Given the description of an element on the screen output the (x, y) to click on. 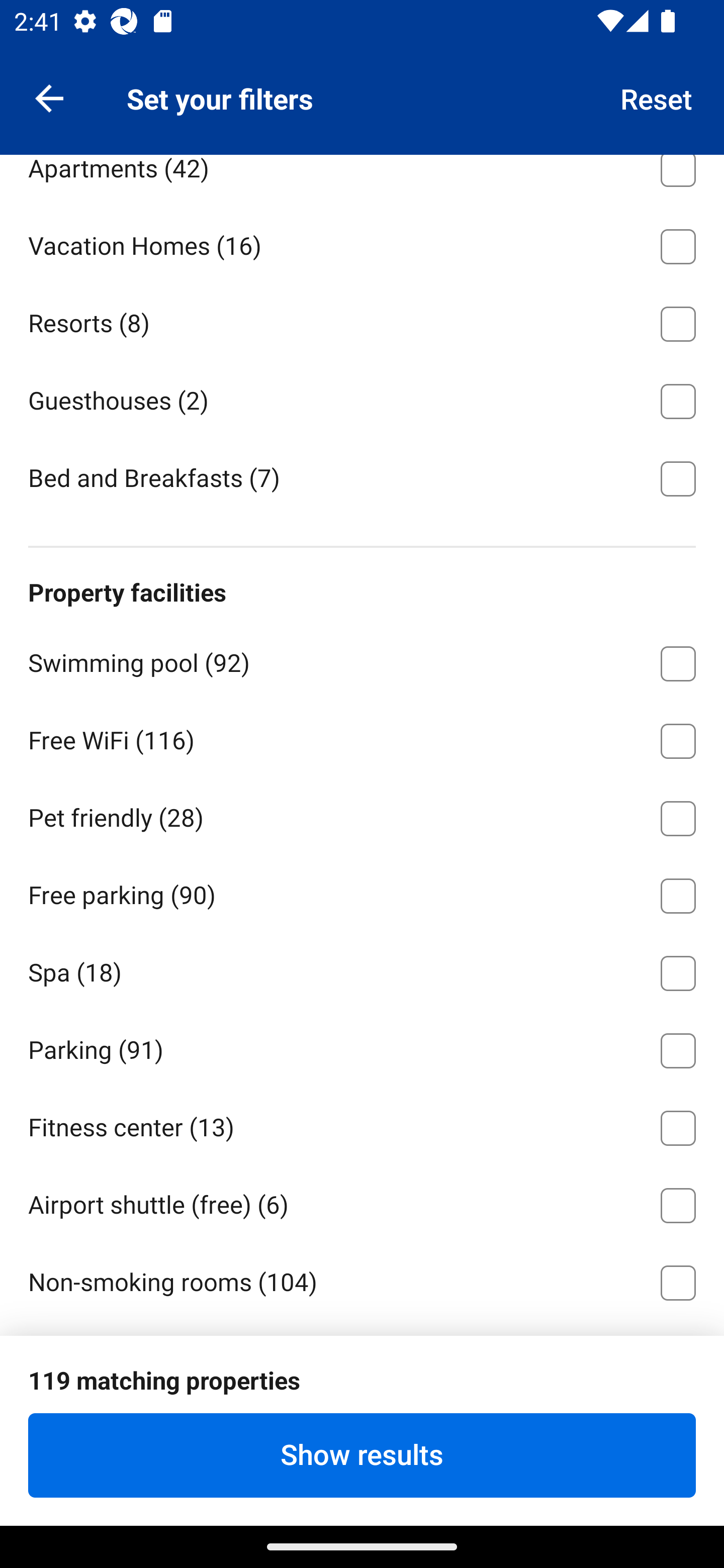
Navigate up (49, 97)
Hotels ⁦(77) (361, 88)
Reset (656, 97)
Apartments ⁦(42) (361, 179)
Vacation Homes ⁦(16) (361, 242)
Resorts ⁦(8) (361, 320)
Guesthouses ⁦(2) (361, 398)
Bed and Breakfasts ⁦(7) (361, 477)
Swimming pool ⁦(92) (361, 659)
Free WiFi ⁦(116) (361, 737)
Pet friendly ⁦(28) (361, 815)
Free parking ⁦(90) (361, 892)
Spa ⁦(18) (361, 969)
Parking ⁦(91) (361, 1047)
Fitness center ⁦(13) (361, 1124)
Airport shuttle (free) ⁦(6) (361, 1201)
Non-smoking rooms ⁦(104) (361, 1279)
Show results (361, 1454)
